Given the description of an element on the screen output the (x, y) to click on. 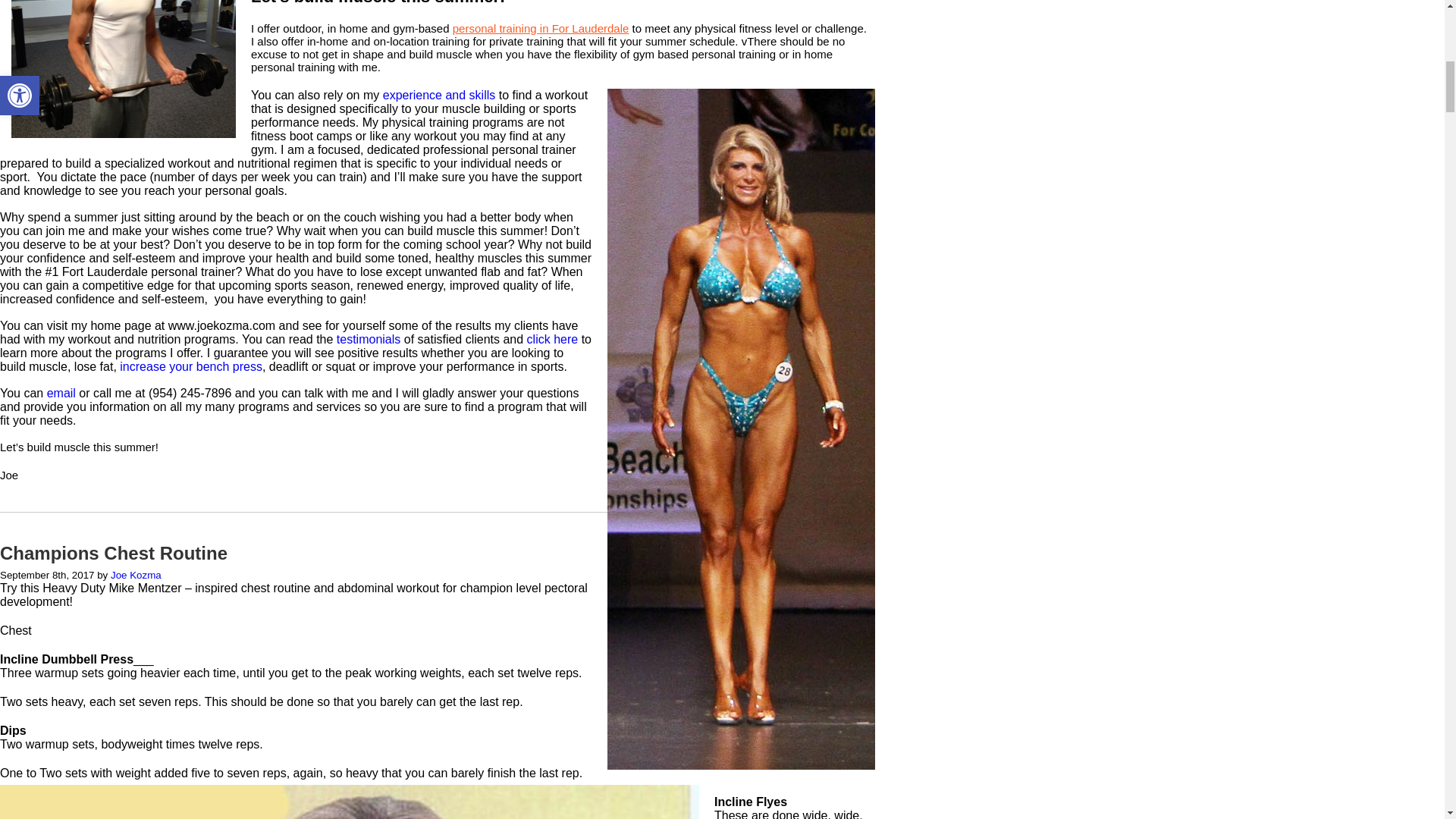
experience and skills (439, 94)
Champions Chest Routine (113, 552)
increase your bench press (190, 366)
click here (552, 338)
email (60, 392)
Posts by Joe Kozma (135, 574)
Permanent Link to Champions Chest Routine (113, 552)
Joe Kozma (135, 574)
testimonials (368, 338)
personal training in For Lauderdale (540, 28)
